Given the description of an element on the screen output the (x, y) to click on. 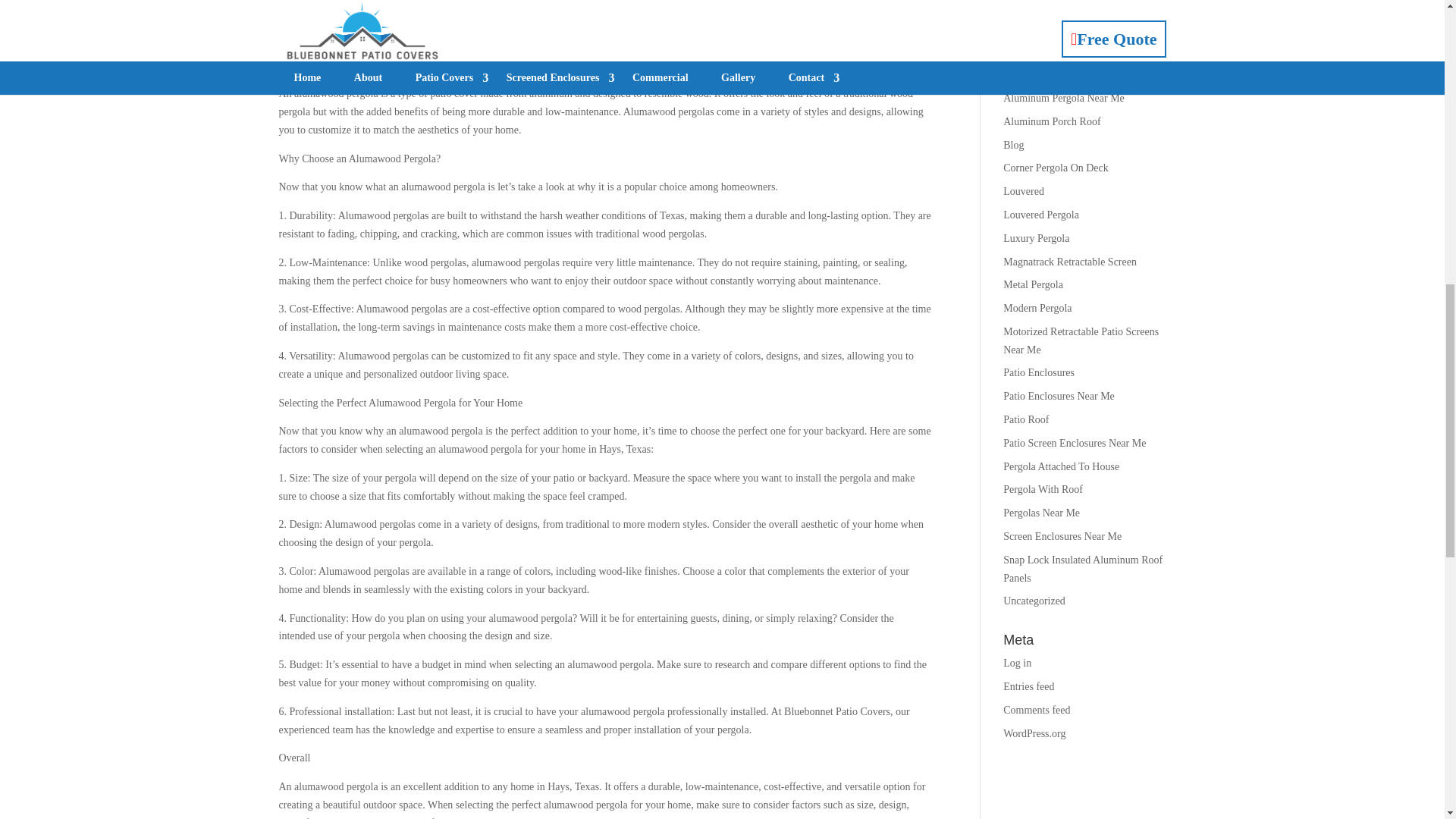
Aluminum Pergola Near Me (1063, 98)
Aluminum Patio Covers (1054, 28)
Alumawood Pergola (1046, 5)
Aluminum Patio Covers Near Me (1075, 50)
Aluminum Pergola (1043, 74)
